Given the description of an element on the screen output the (x, y) to click on. 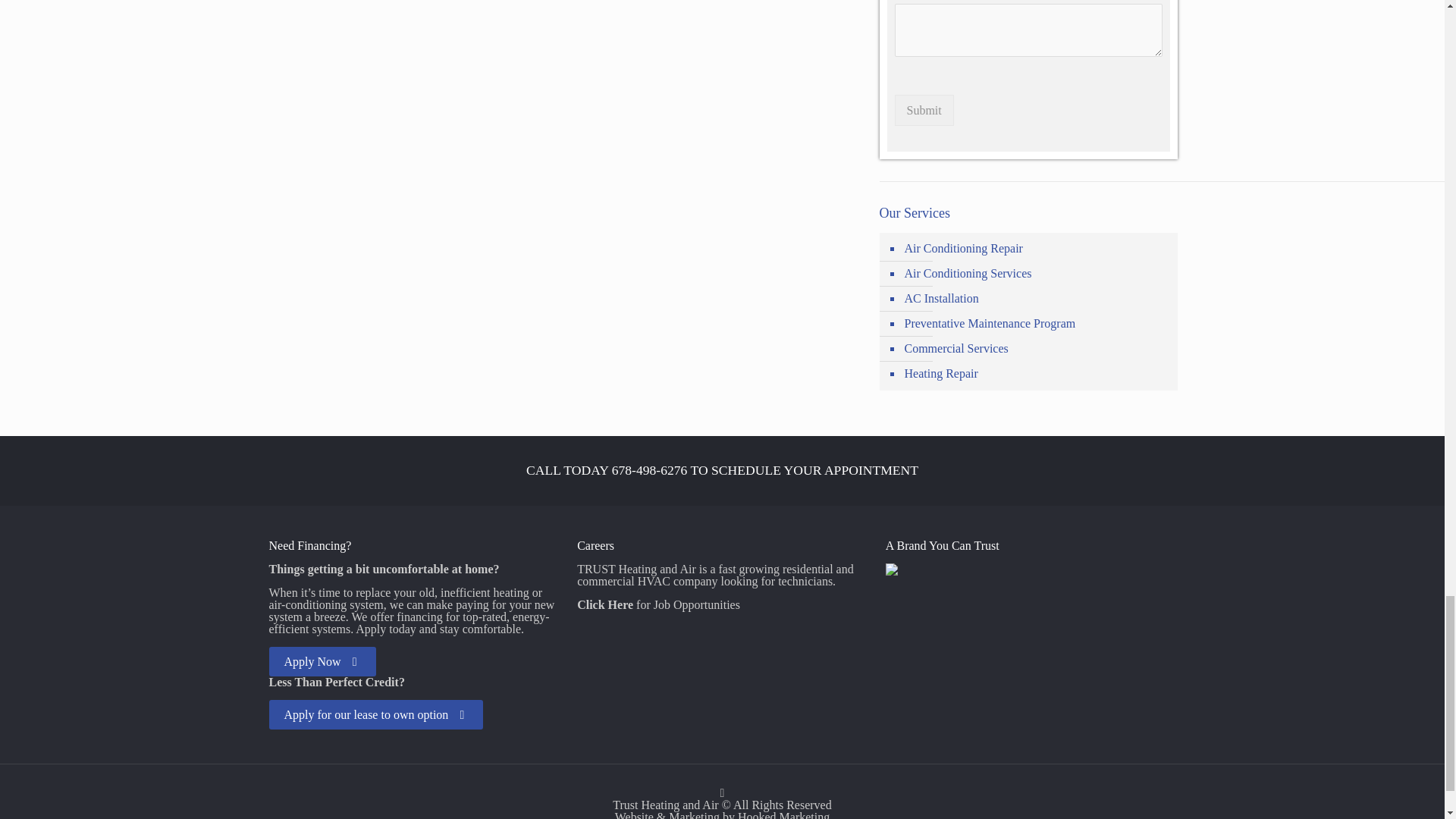
Apply Now (321, 661)
AC Installation (1036, 299)
Preventative Maintenance Program (1036, 324)
Air Conditioning Services (1036, 273)
Air Conditioning Repair (1036, 248)
Commercial Services (1036, 348)
Apply for our lease to own option (375, 714)
Heating Repair (1036, 373)
Submit (924, 110)
